Given the description of an element on the screen output the (x, y) to click on. 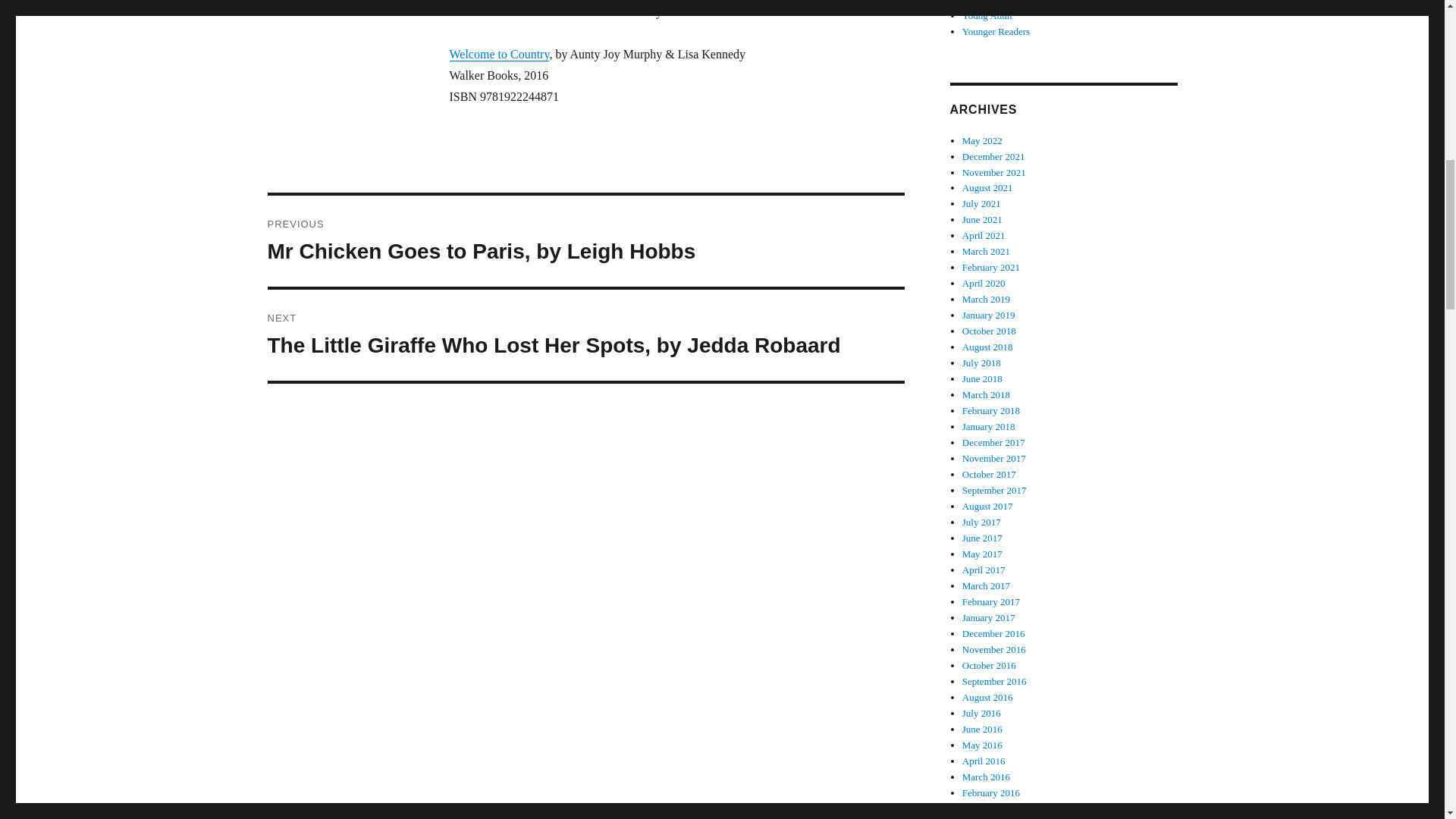
Welcome to Country (498, 53)
June 2021 (982, 219)
August 2021 (987, 187)
July 2021 (981, 203)
November 2021 (994, 172)
April 2021 (984, 235)
Uncategorised (990, 2)
March 2021 (986, 251)
